Given the description of an element on the screen output the (x, y) to click on. 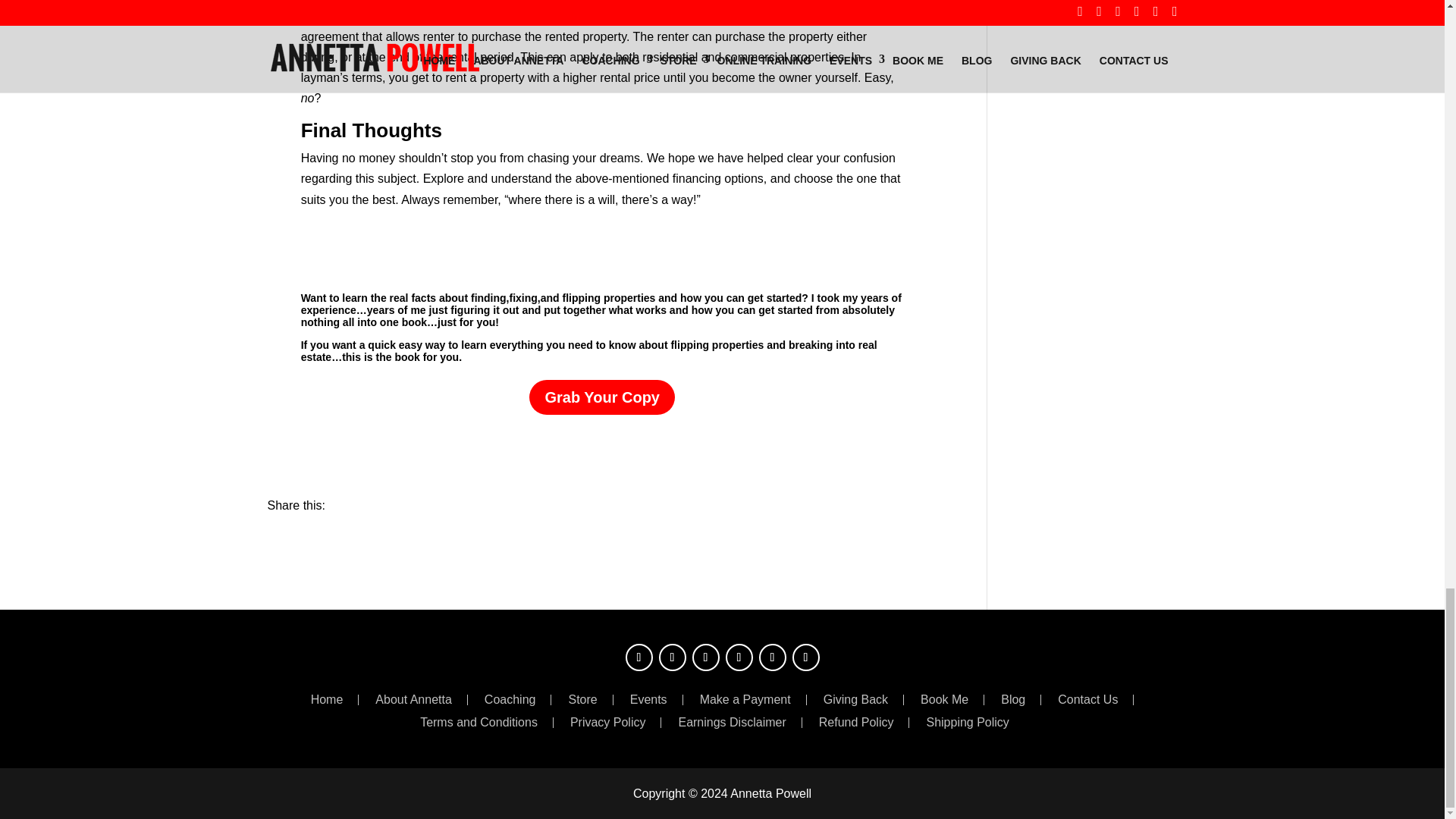
Follow on LinkedIn (738, 656)
Follow on Instagram (705, 656)
Grab Your Copy (602, 397)
Follow on TikTok (805, 656)
Follow on X (671, 656)
Follow on Facebook (638, 656)
Follow on Youtube (772, 656)
